Given the description of an element on the screen output the (x, y) to click on. 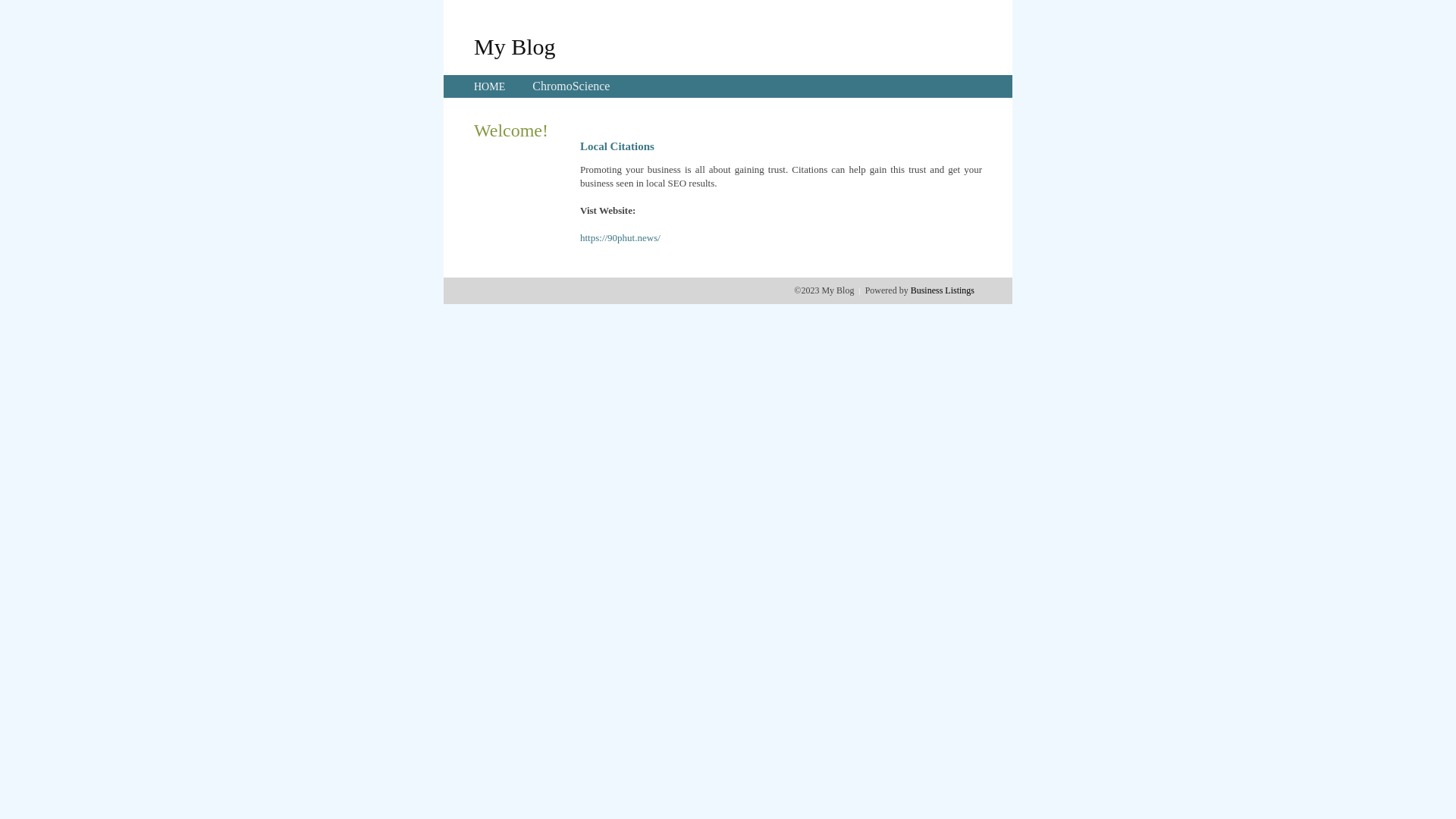
My Blog Element type: text (514, 46)
ChromoScience Element type: text (570, 85)
Business Listings Element type: text (942, 290)
HOME Element type: text (489, 86)
https://90phut.news/ Element type: text (620, 237)
